Given the description of an element on the screen output the (x, y) to click on. 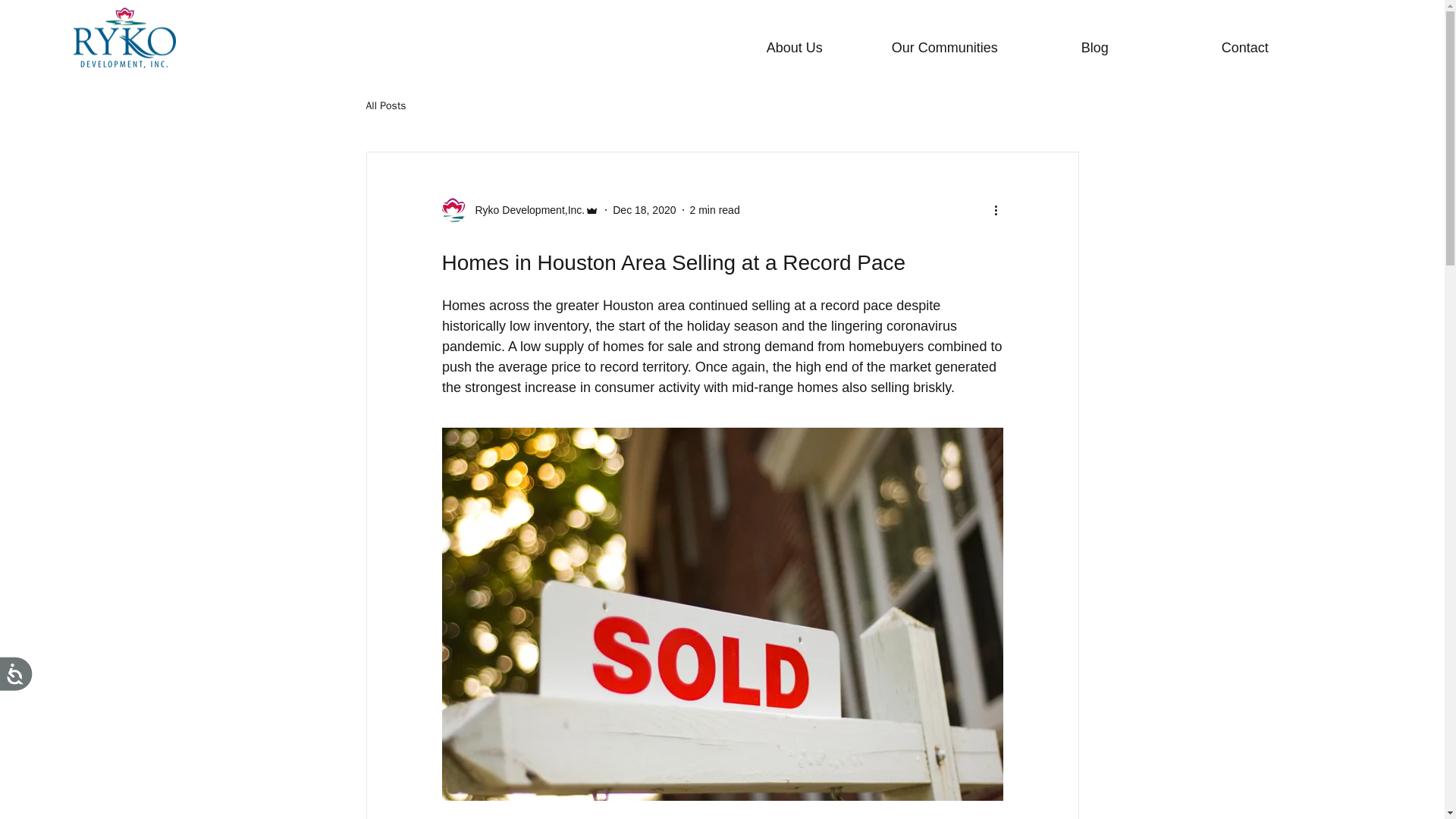
All Posts (385, 106)
Ryko Development,Inc. (525, 209)
Dec 18, 2020 (643, 209)
Accessibility (31, 689)
2 min read (714, 209)
